Given the description of an element on the screen output the (x, y) to click on. 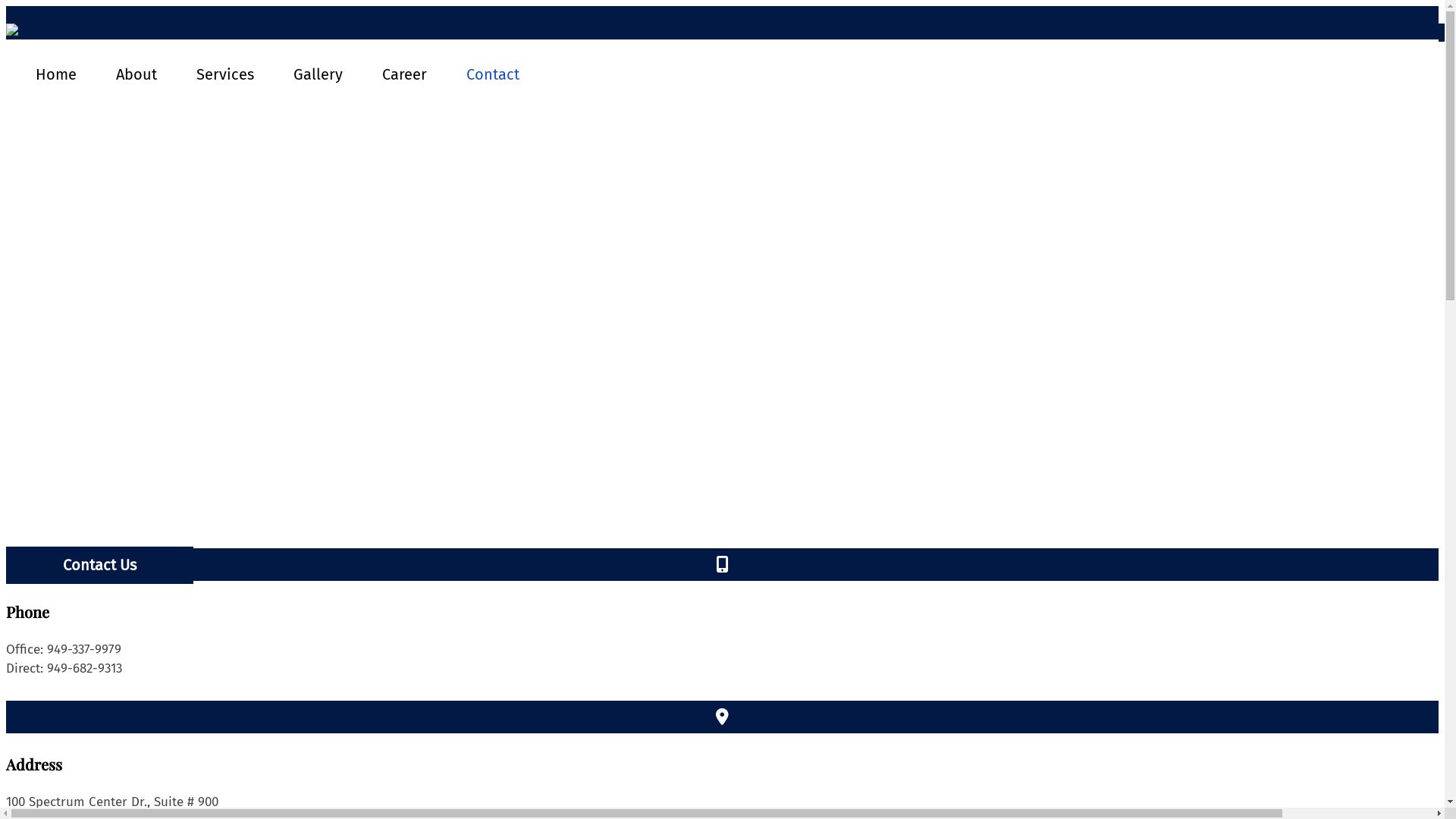
Gallery Element type: text (317, 74)
Contact Element type: text (492, 74)
About Element type: text (136, 74)
Career Element type: text (404, 74)
Office: 949-337-9979 Element type: text (722, 649)
Direct: 949-682-9313 Element type: text (722, 668)
Home Element type: text (55, 74)
Services Element type: text (224, 74)
